Given the description of an element on the screen output the (x, y) to click on. 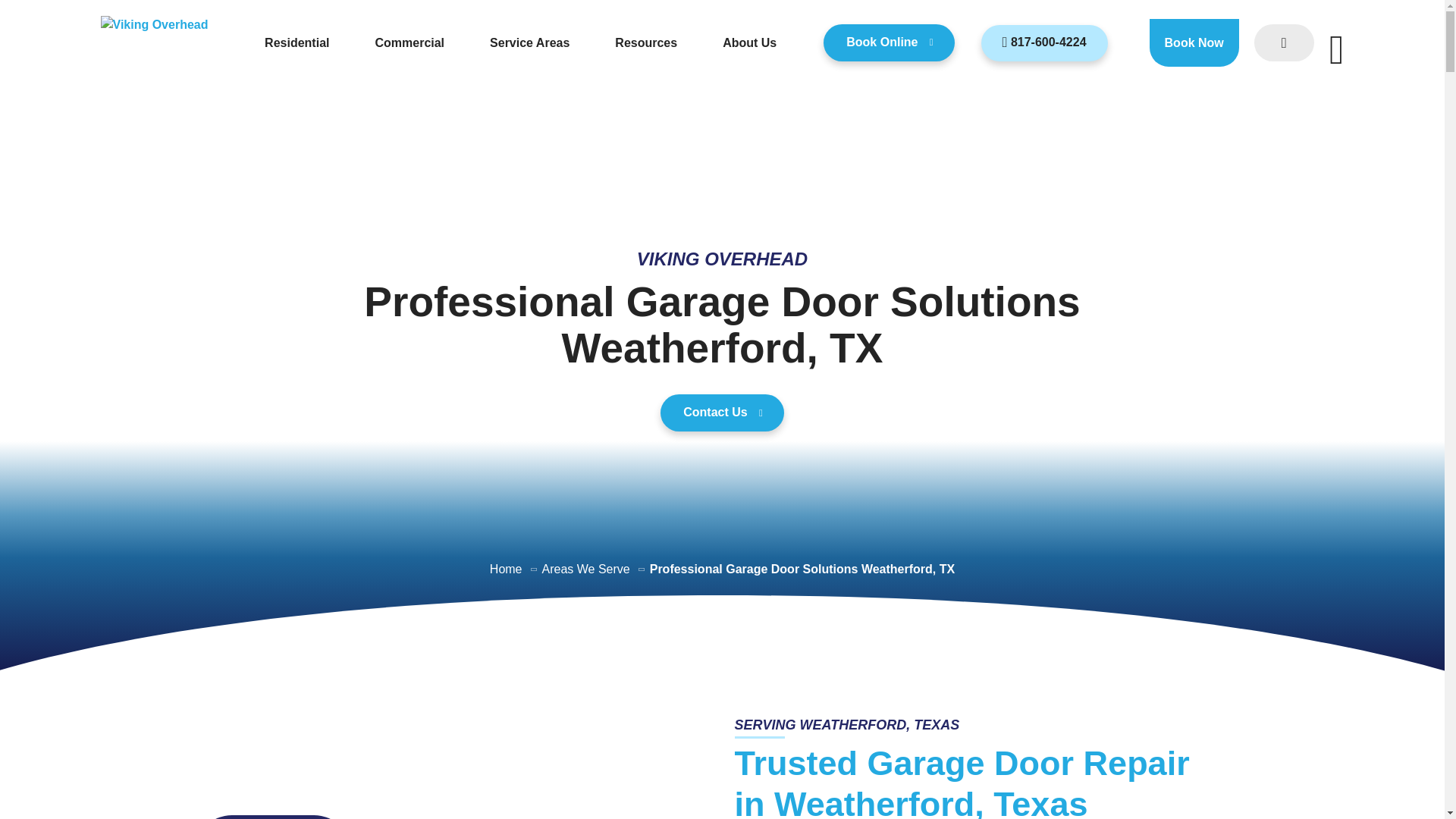
Contact Us (722, 412)
Residential (305, 42)
Commercial (418, 42)
